Given the description of an element on the screen output the (x, y) to click on. 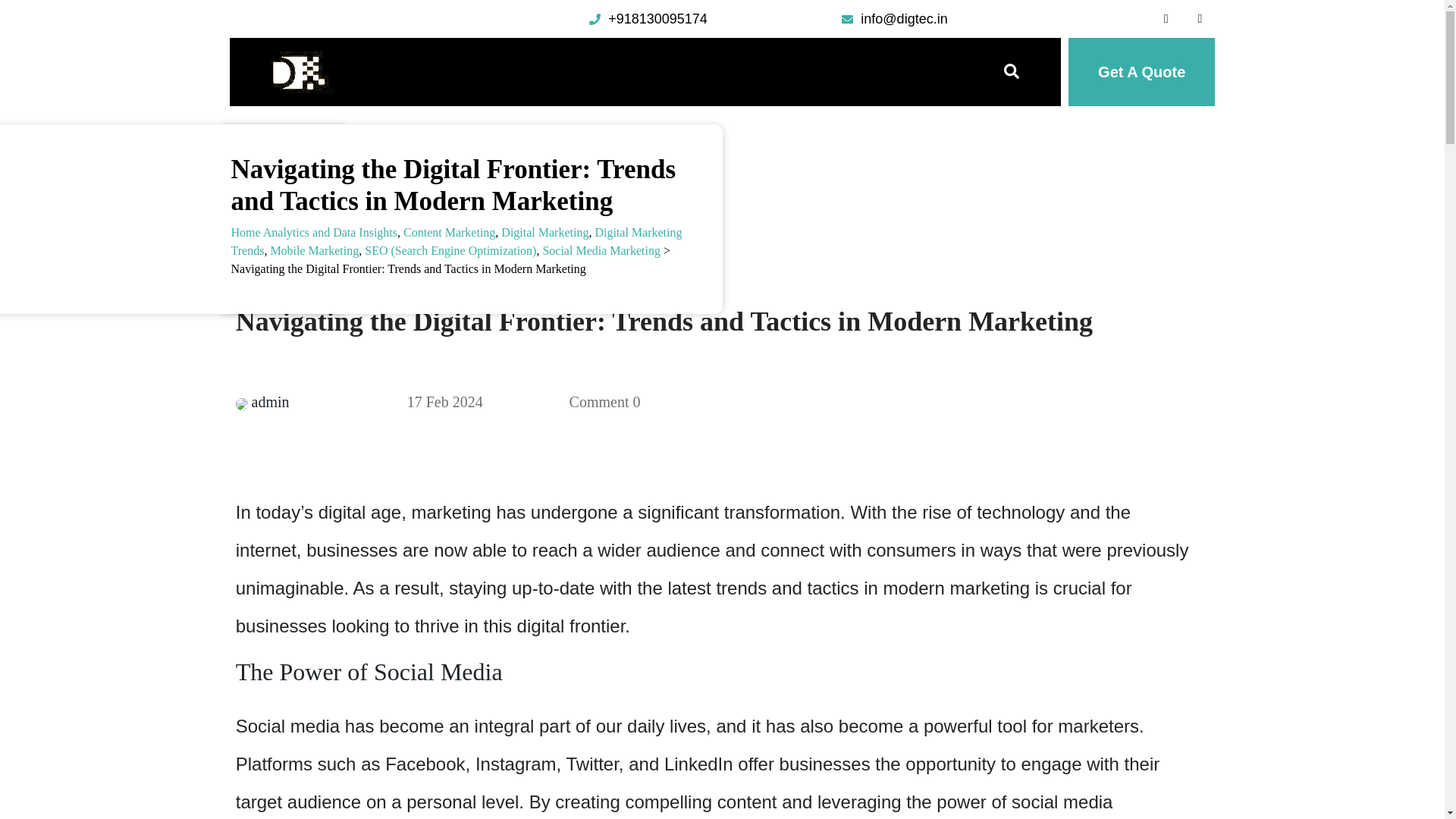
About Us (544, 71)
Home (246, 232)
Digital Marketing (544, 232)
Contact (864, 71)
Digital Marketing Trends (455, 241)
Blog (791, 71)
Home (466, 71)
admin (270, 401)
Get A Quote (1141, 72)
Content Marketing (449, 232)
Services (632, 71)
Social Media Marketing (601, 250)
Mobile Marketing (313, 250)
Projects (716, 71)
Analytics and Data Insights (330, 232)
